Given the description of an element on the screen output the (x, y) to click on. 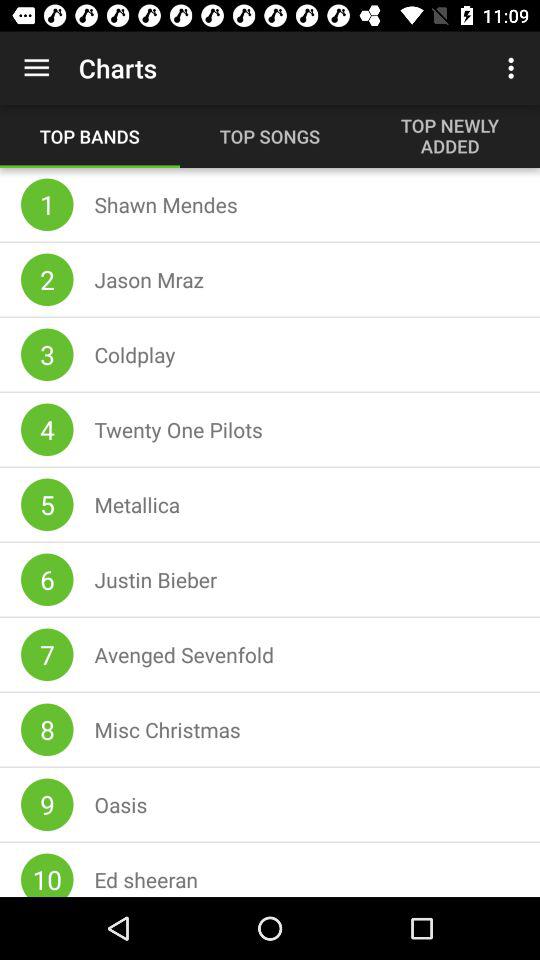
open the item below the 9 item (47, 874)
